Given the description of an element on the screen output the (x, y) to click on. 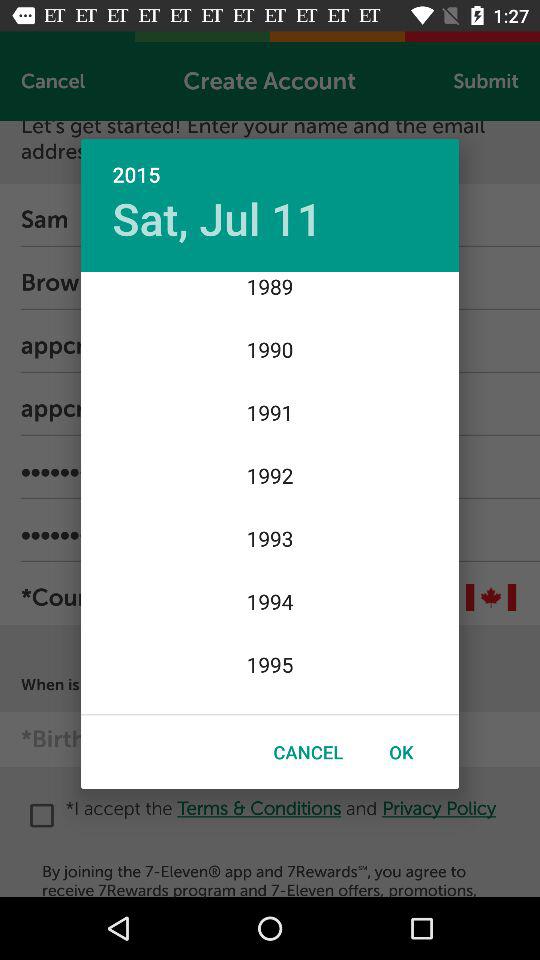
turn off item next to ok icon (308, 751)
